Given the description of an element on the screen output the (x, y) to click on. 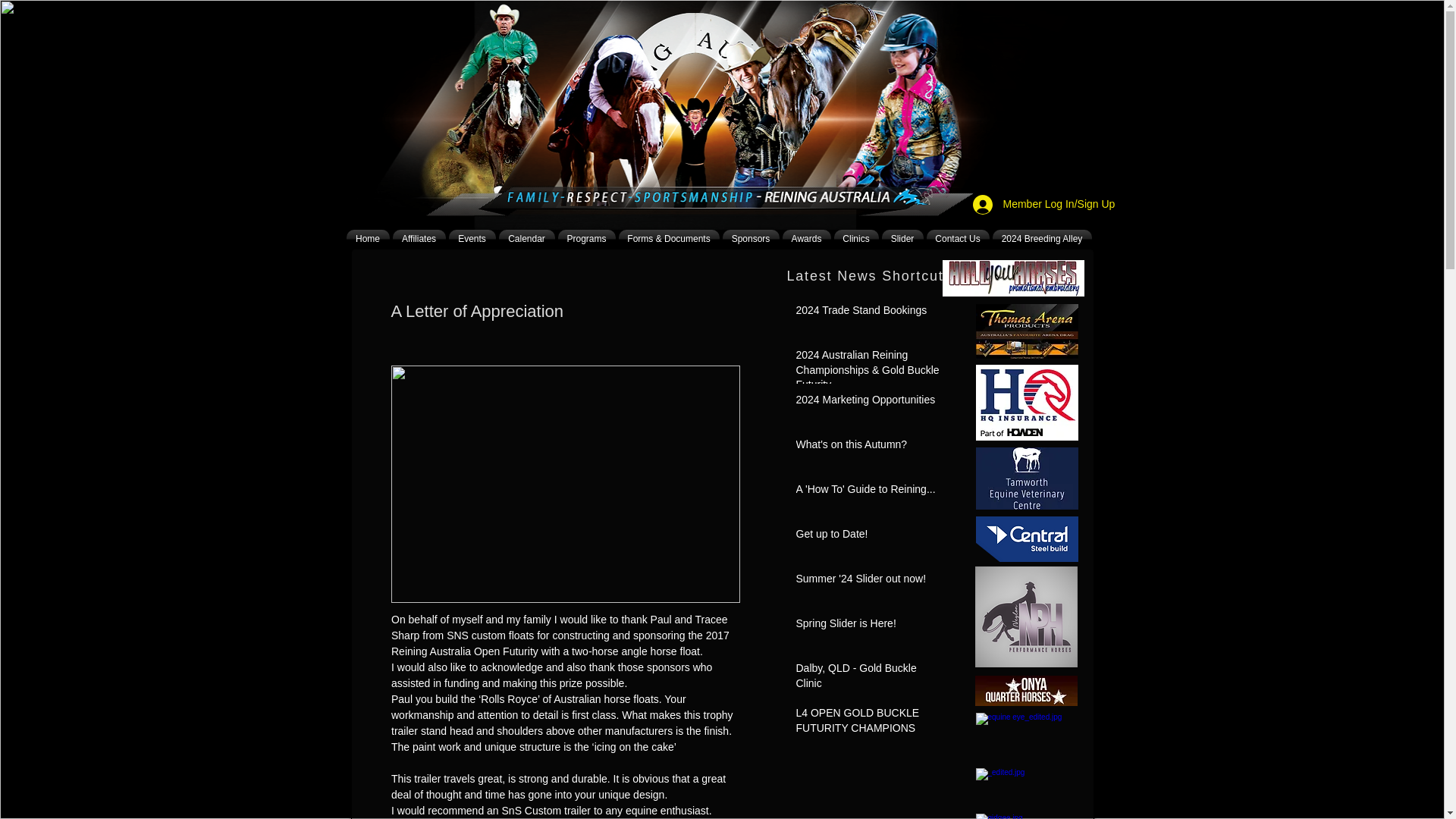
Affiliates (418, 239)
What's on this Autumn? (869, 447)
TEVC (1026, 478)
Contact Us (957, 239)
Slider (901, 239)
Home (368, 239)
Clinics (856, 239)
central steel logo (1026, 538)
2024 Marketing Opportunities (869, 403)
Get up to Date! (869, 537)
